Given the description of an element on the screen output the (x, y) to click on. 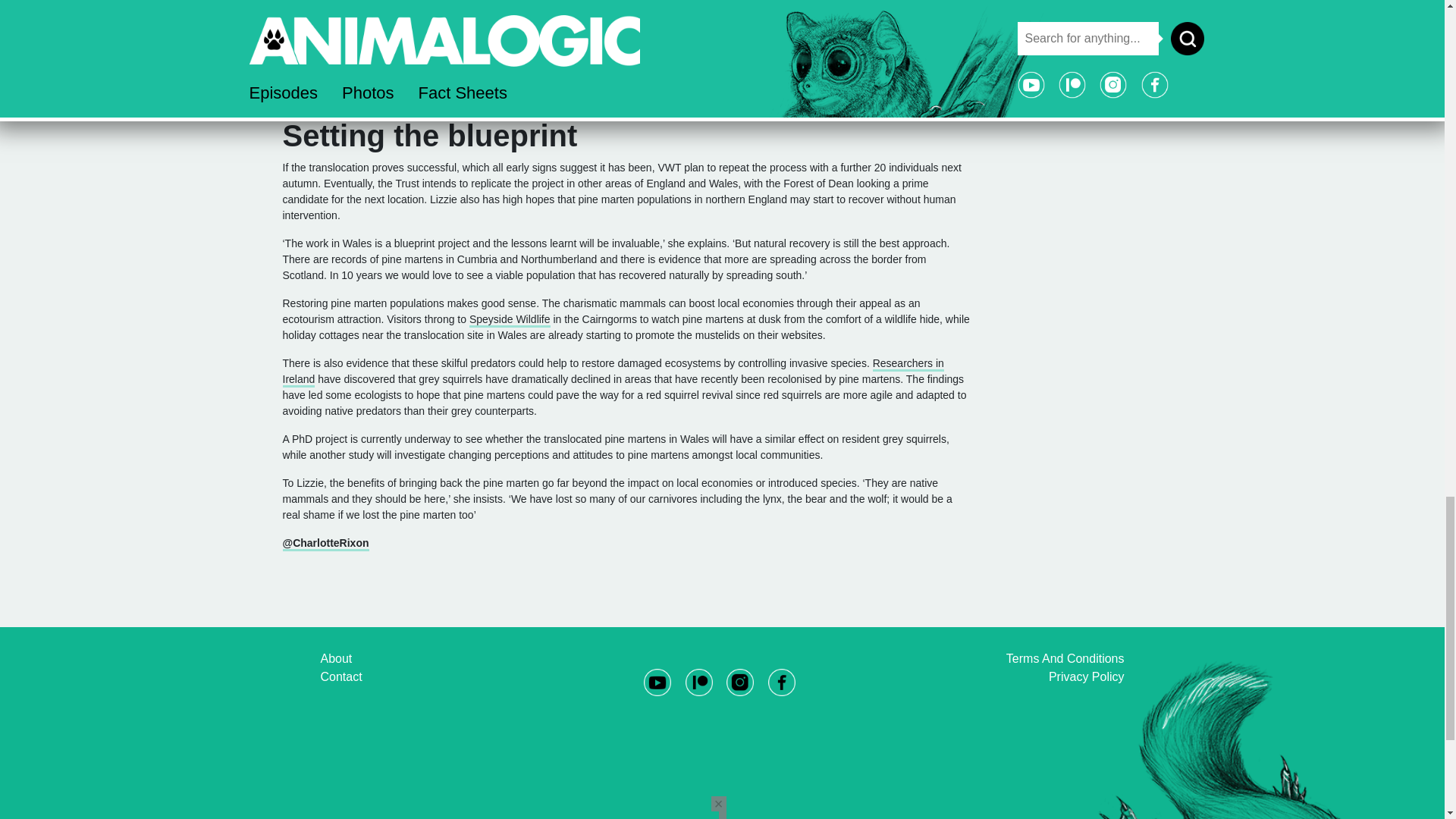
About (336, 658)
Researchers in Ireland (612, 372)
Speyside Wildlife (509, 319)
